Given the description of an element on the screen output the (x, y) to click on. 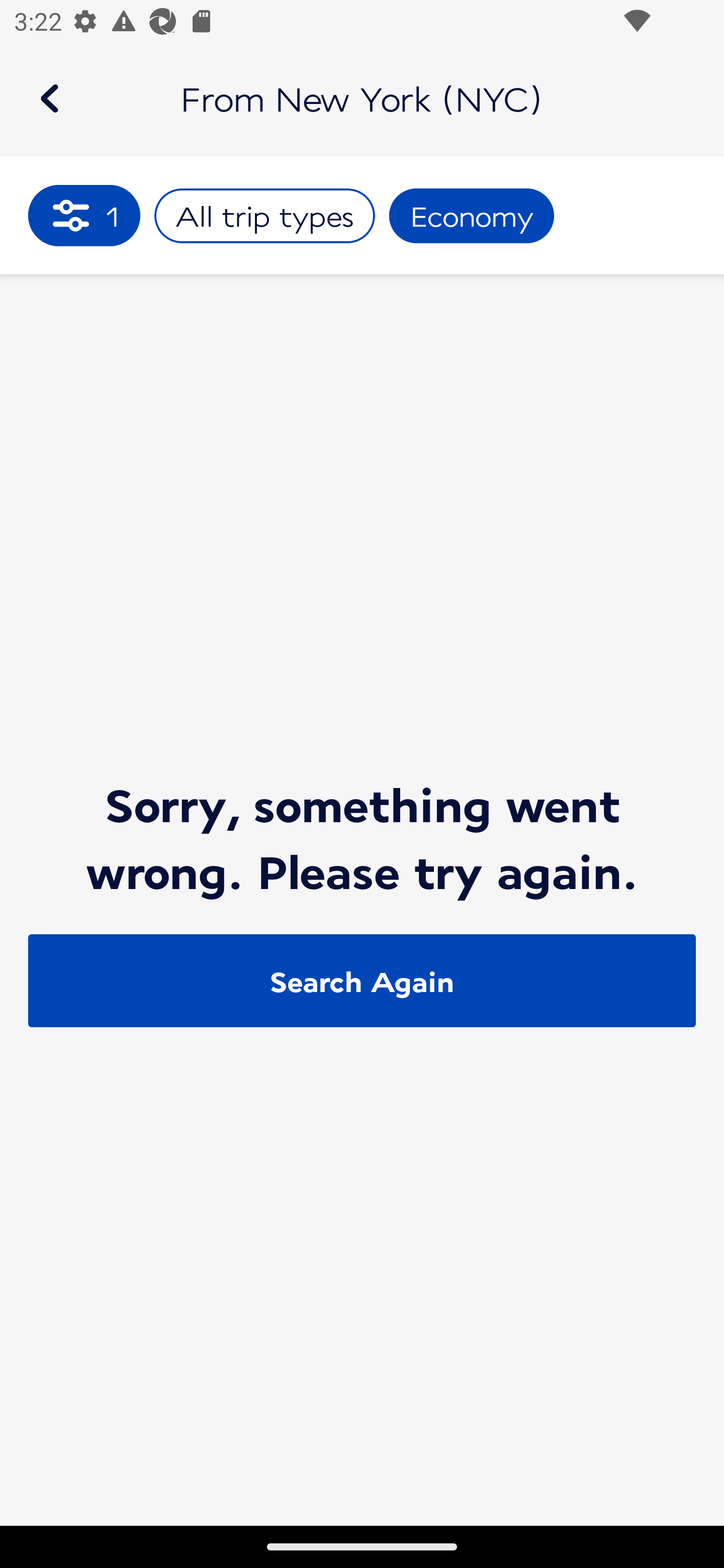
leading 1 (84, 215)
All trip types (264, 216)
Economy (471, 216)
Search Again (361, 980)
